Given the description of an element on the screen output the (x, y) to click on. 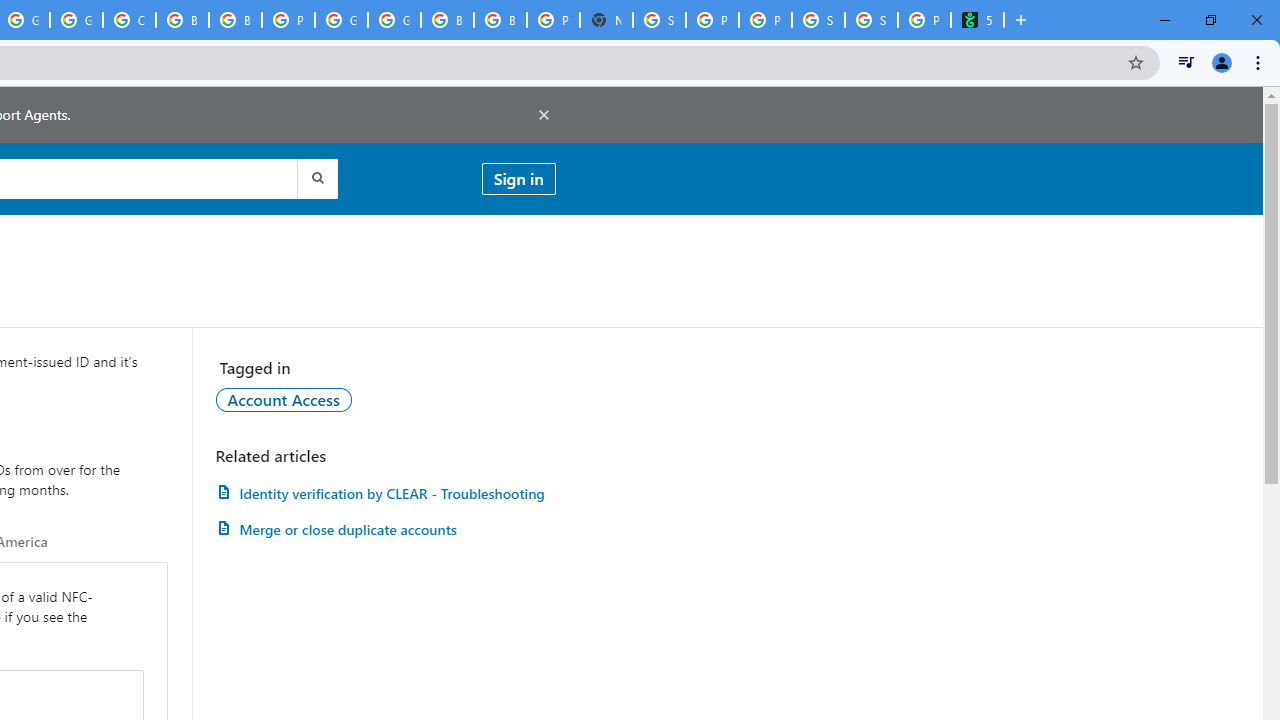
Minimize (1165, 20)
Sign in - Google Accounts (659, 20)
You (1221, 62)
Browse Chrome as a guest - Computer - Google Chrome Help (447, 20)
Submit search (316, 178)
Sign in (518, 178)
Chrome (1260, 62)
New Tab (1021, 20)
New Tab (606, 20)
